Given the description of an element on the screen output the (x, y) to click on. 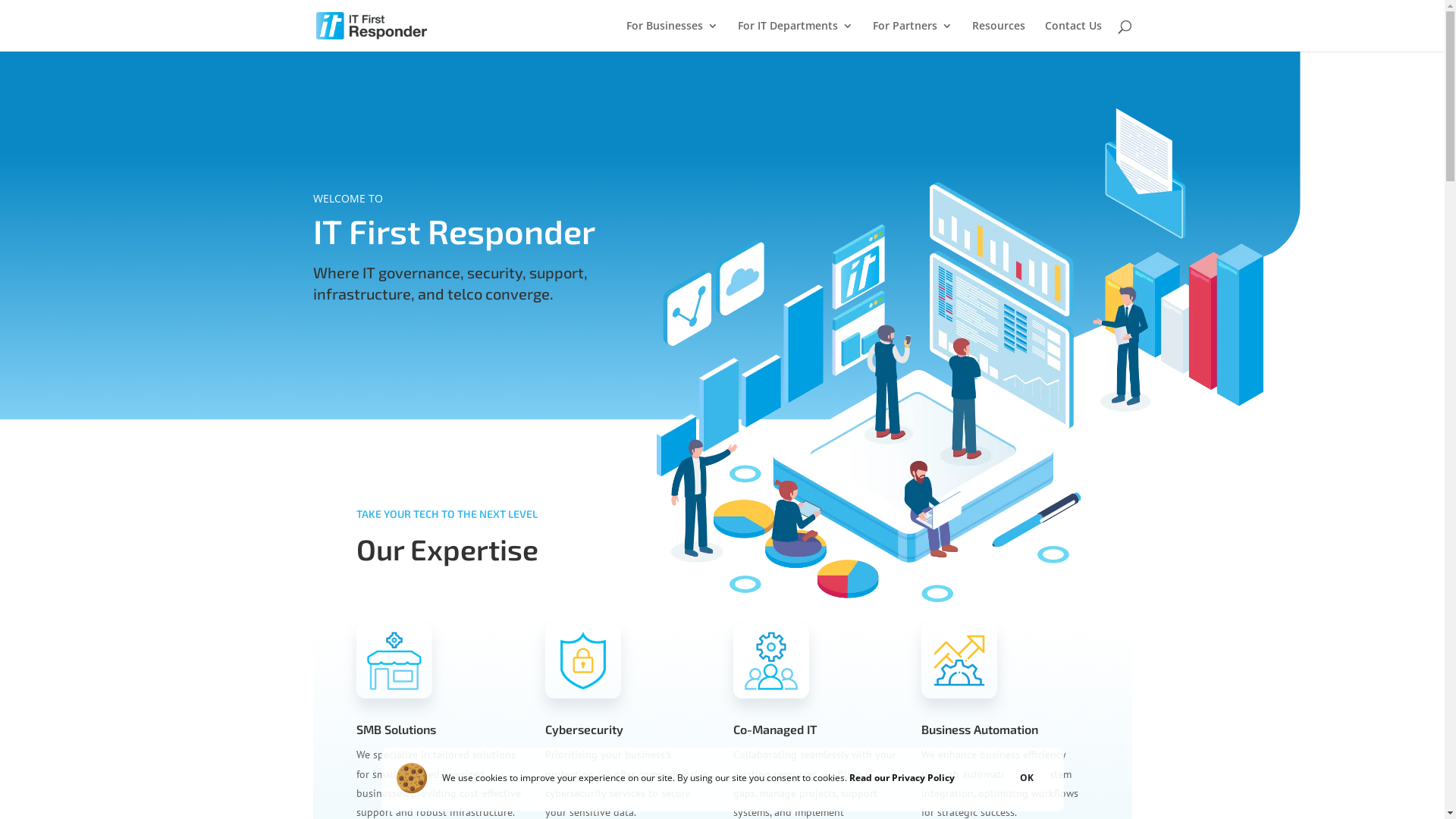
Home 3 Element type: hover (771, 694)
Home 2 Element type: hover (583, 694)
Resources Element type: text (998, 35)
It First Responder Element type: hover (959, 597)
For Partners Element type: text (911, 35)
Read our Privacy Policy Element type: text (901, 777)
Home 1 Element type: hover (394, 694)
For Businesses Element type: text (672, 35)
For IT Departments Element type: text (794, 35)
Home 4 Element type: hover (959, 694)
Contact Us Element type: text (1072, 35)
